Given the description of an element on the screen output the (x, y) to click on. 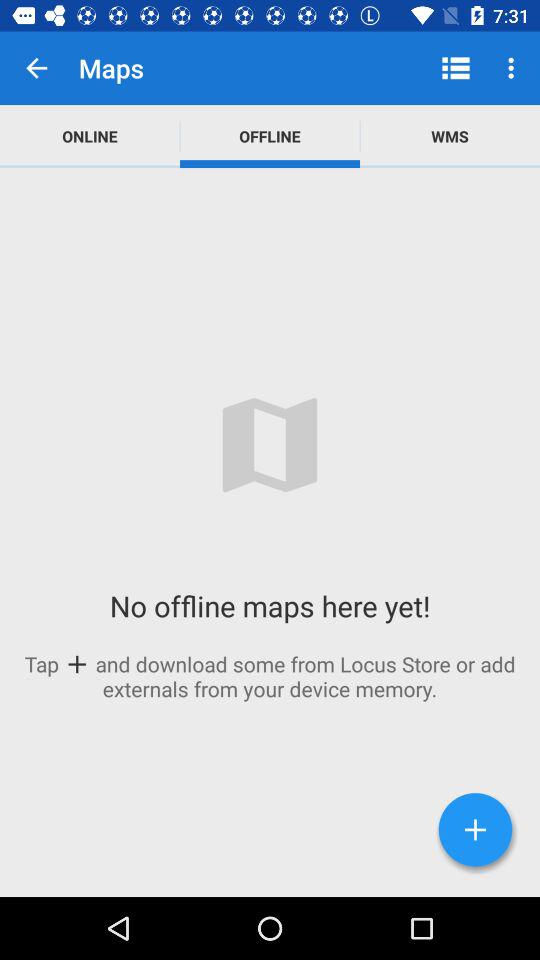
open the icon above the no offline maps icon (450, 136)
